Given the description of an element on the screen output the (x, y) to click on. 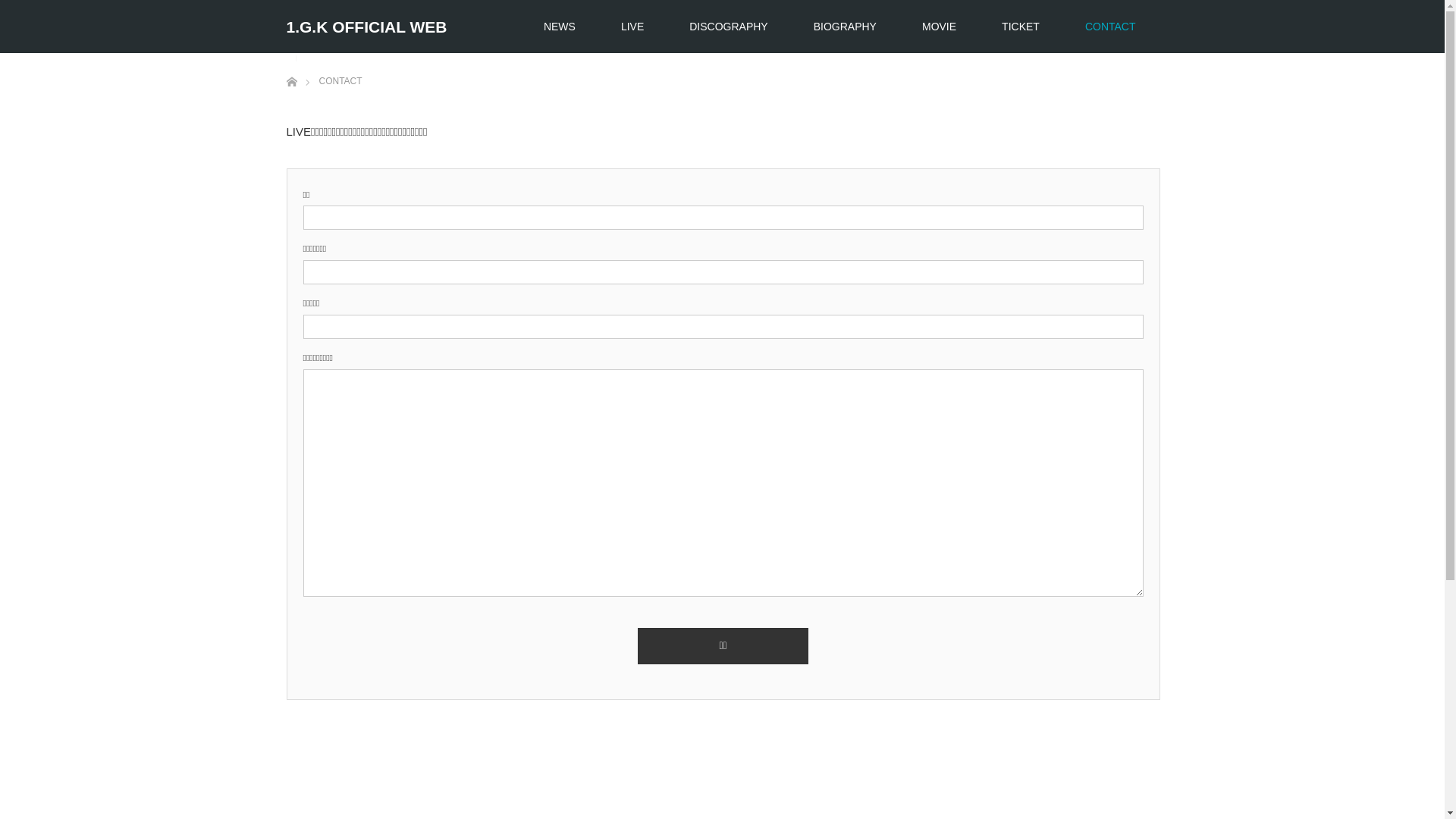
1.G.K OFFICIAL WEB Element type: text (366, 26)
NEWS Element type: text (559, 26)
DISCOGRAPHY Element type: text (728, 26)
CONTACT Element type: text (1110, 26)
BIOGRAPHY Element type: text (844, 26)
MOVIE Element type: text (939, 26)
LIVE Element type: text (632, 26)
TICKET Element type: text (1020, 26)
